Given the description of an element on the screen output the (x, y) to click on. 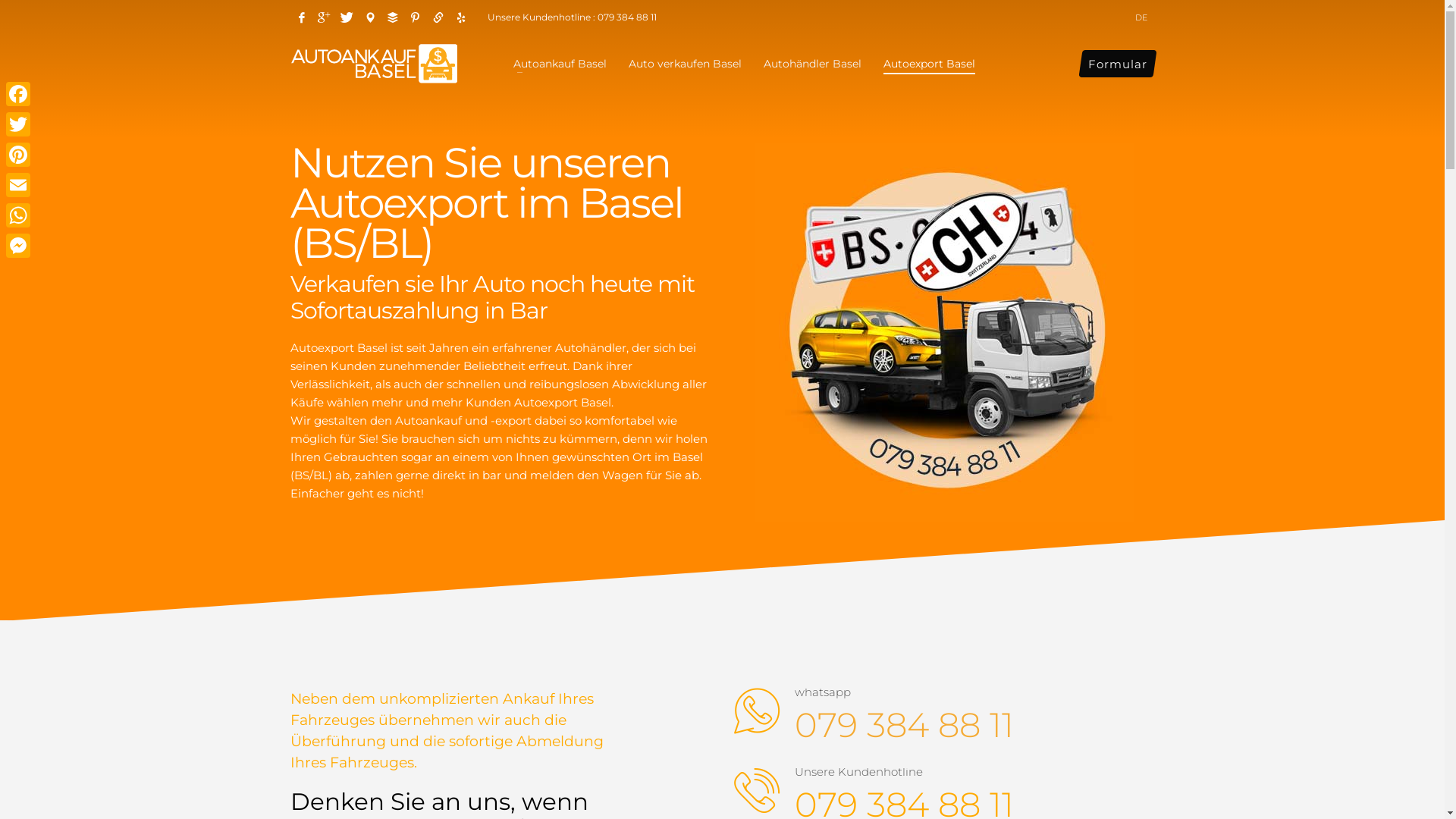
079 384 88 11 Element type: text (903, 724)
Auto verkaufen Basel Element type: text (684, 62)
Google+ | Autoankauf Basel Element type: hover (323, 17)
about me | Autoankauf Basel Element type: hover (391, 17)
Autoexport Basel Element type: text (929, 62)
Twitter Element type: text (18, 124)
vSchweiz | Autoankauf Basel Element type: hover (368, 17)
autoexport Element type: hover (944, 331)
Messenger Element type: text (18, 245)
Email Element type: text (18, 184)
autoexport Element type: hover (943, 331)
Twitter | Autoankauf Basel Element type: hover (346, 17)
Pinterest Element type: text (18, 154)
Pinterest | Autoankauf Basel Element type: hover (414, 17)
Autoankauf Basel | Cylex Element type: hover (437, 17)
Formular Element type: text (1116, 63)
DE Element type: text (1140, 17)
WhatsApp Element type: text (18, 215)
Autoankauf Basel | Yelp Element type: hover (459, 17)
Autoankauf Basel Element type: text (559, 62)
Facebook | Autoankauf Basel Element type: hover (300, 17)
Facebook Element type: text (18, 93)
